Given the description of an element on the screen output the (x, y) to click on. 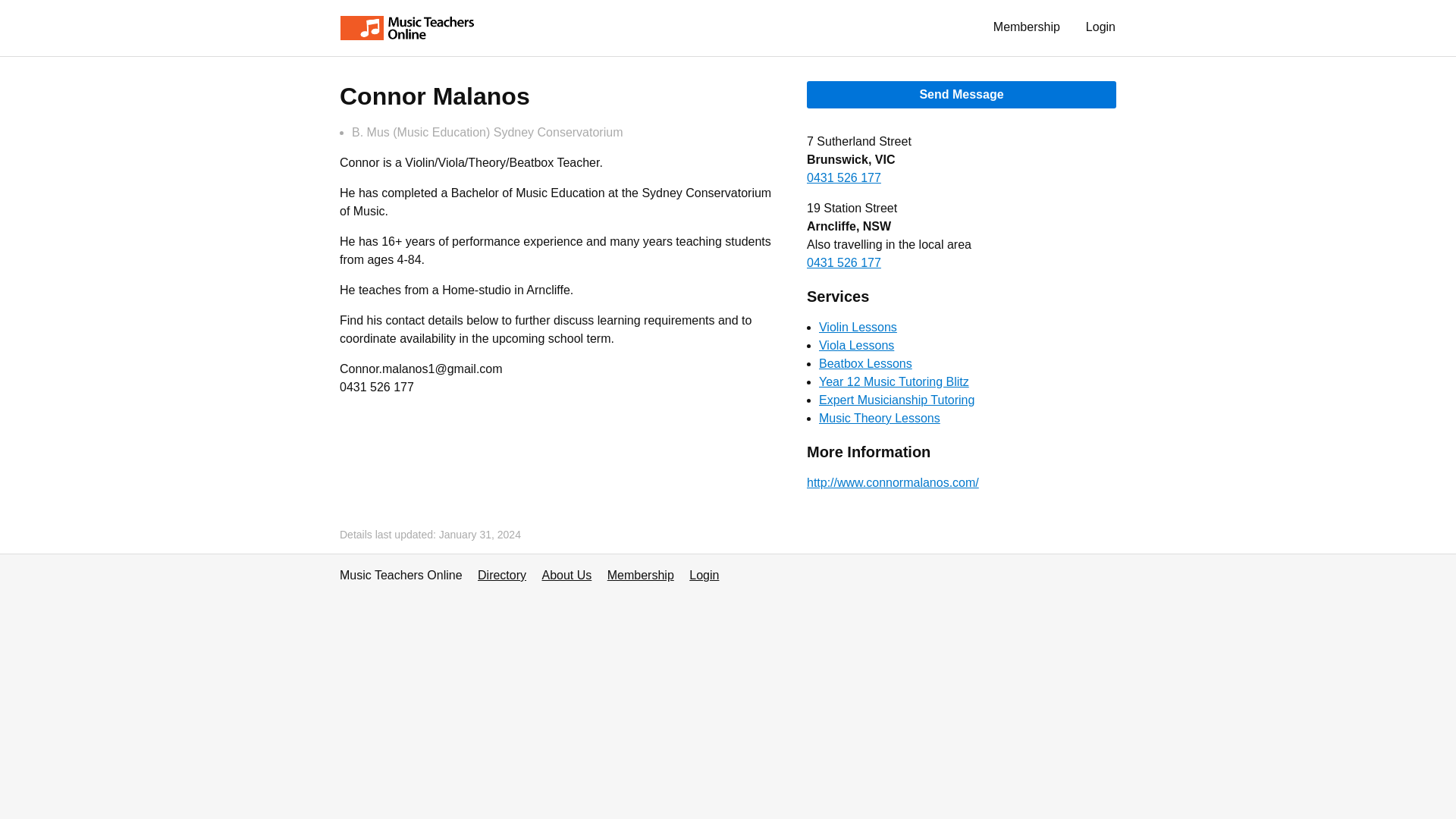
Violin Lessons (857, 327)
Membership (1026, 26)
Year 12 Music Tutoring Blitz (893, 381)
0431 526 177 (843, 177)
Beatbox Lessons (865, 363)
Music Theory Lessons (879, 418)
Login (703, 574)
Send Message (961, 94)
Login (1100, 26)
Expert Musicianship Tutoring (896, 399)
